Given the description of an element on the screen output the (x, y) to click on. 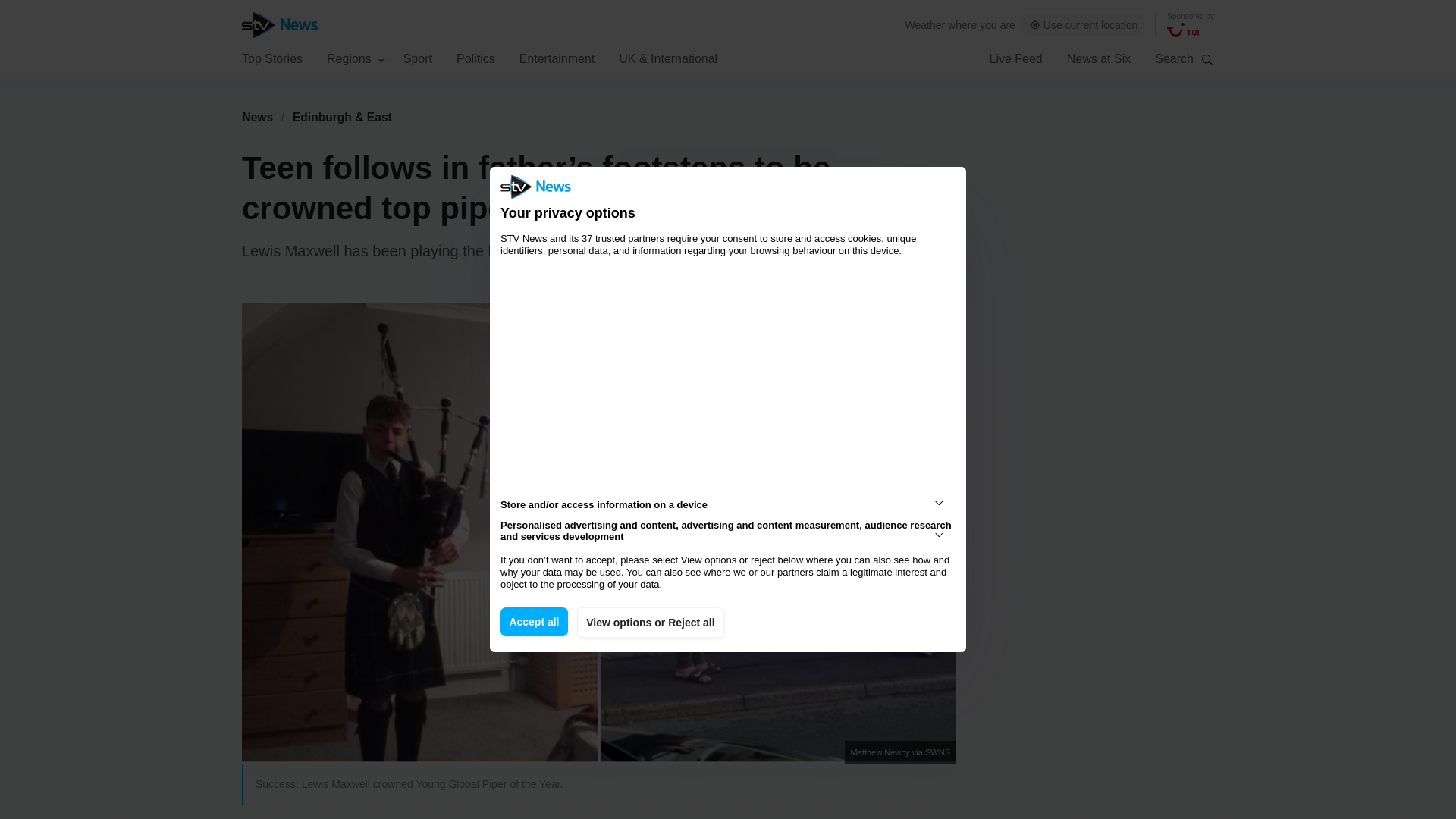
News at Six (1099, 57)
Search (1206, 59)
Regions (355, 57)
Weather (924, 24)
Use current location (1083, 25)
Top Stories (271, 57)
Live Feed (1015, 57)
Politics (476, 57)
Entertainment (557, 57)
